Given the description of an element on the screen output the (x, y) to click on. 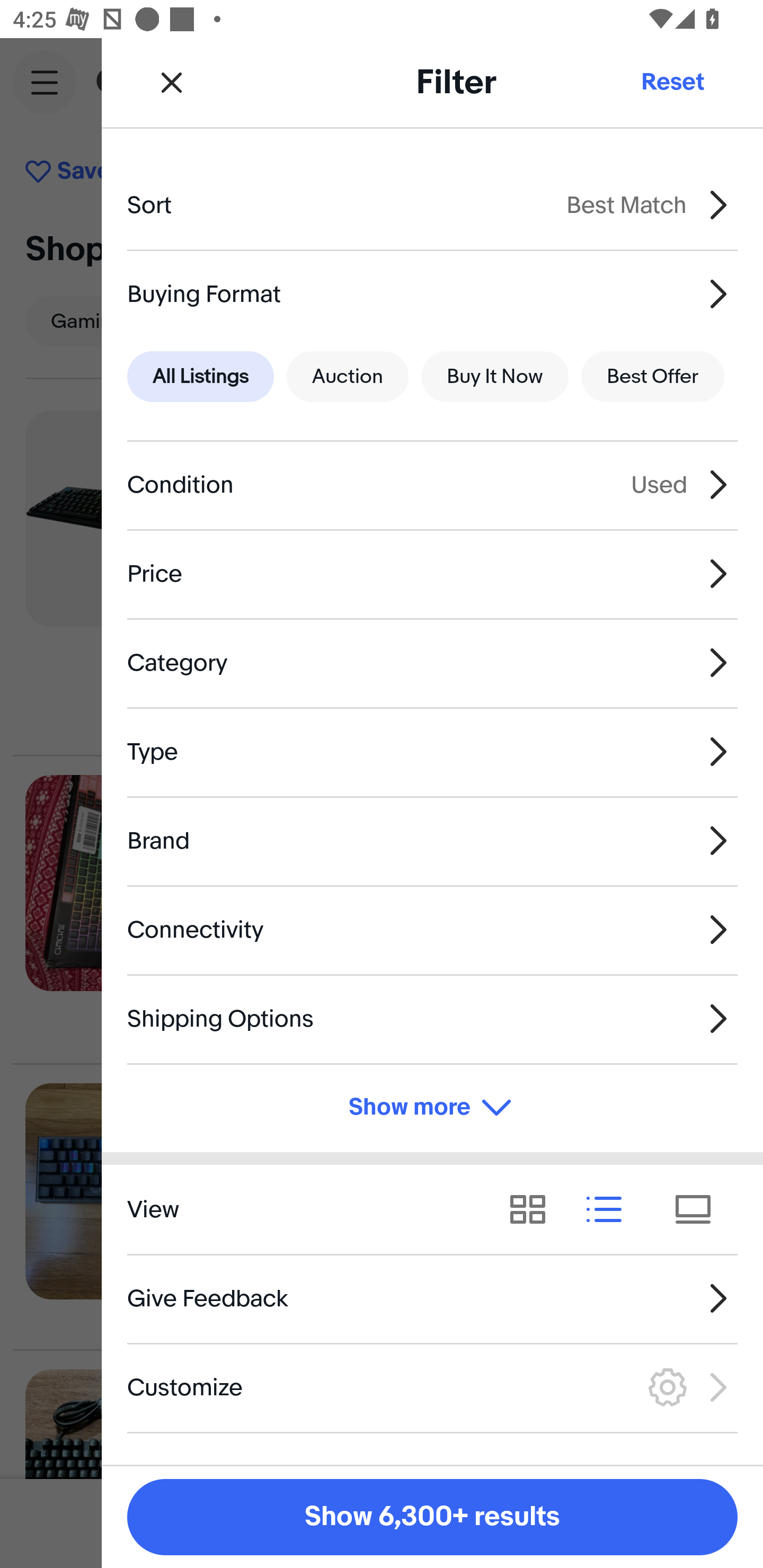
Close Filter (171, 81)
Reset (672, 81)
Buying Format (432, 293)
All Listings (200, 376)
Auction (347, 376)
Buy It Now (494, 376)
Best Offer (652, 376)
Condition Used (432, 484)
Price (432, 573)
Category (432, 662)
Type (432, 751)
Brand (432, 840)
Connectivity (432, 929)
Shipping Options (432, 1018)
Show more (432, 1107)
View results as grid (533, 1209)
View results as list (610, 1209)
View results as tiles (699, 1209)
Customize (432, 1386)
Show 6,300+ results (432, 1516)
